Given the description of an element on the screen output the (x, y) to click on. 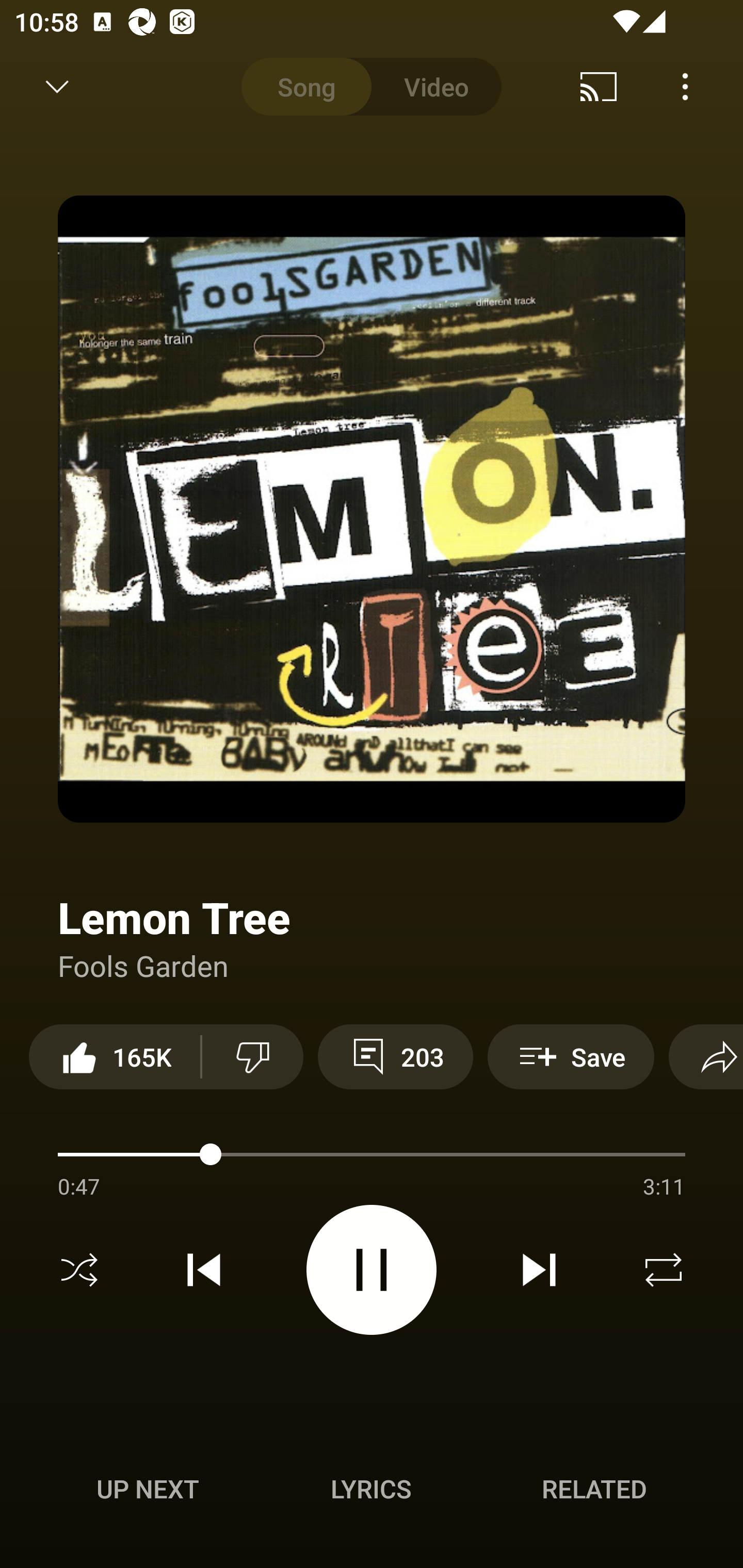
Minimize (57, 86)
Cast. Disconnected (598, 86)
Menu (684, 86)
Dislike (252, 1056)
203 View 203 comments (395, 1056)
Save Save to playlist (570, 1056)
Share (705, 1056)
Menu (690, 1168)
Pause video (371, 1269)
Shuffle off (79, 1269)
Previous track (203, 1269)
Next track (538, 1269)
Repeat off (663, 1269)
Up next UP NEXT Lyrics LYRICS Related RELATED (371, 1491)
Lyrics LYRICS (370, 1488)
Related RELATED (594, 1488)
